Given the description of an element on the screen output the (x, y) to click on. 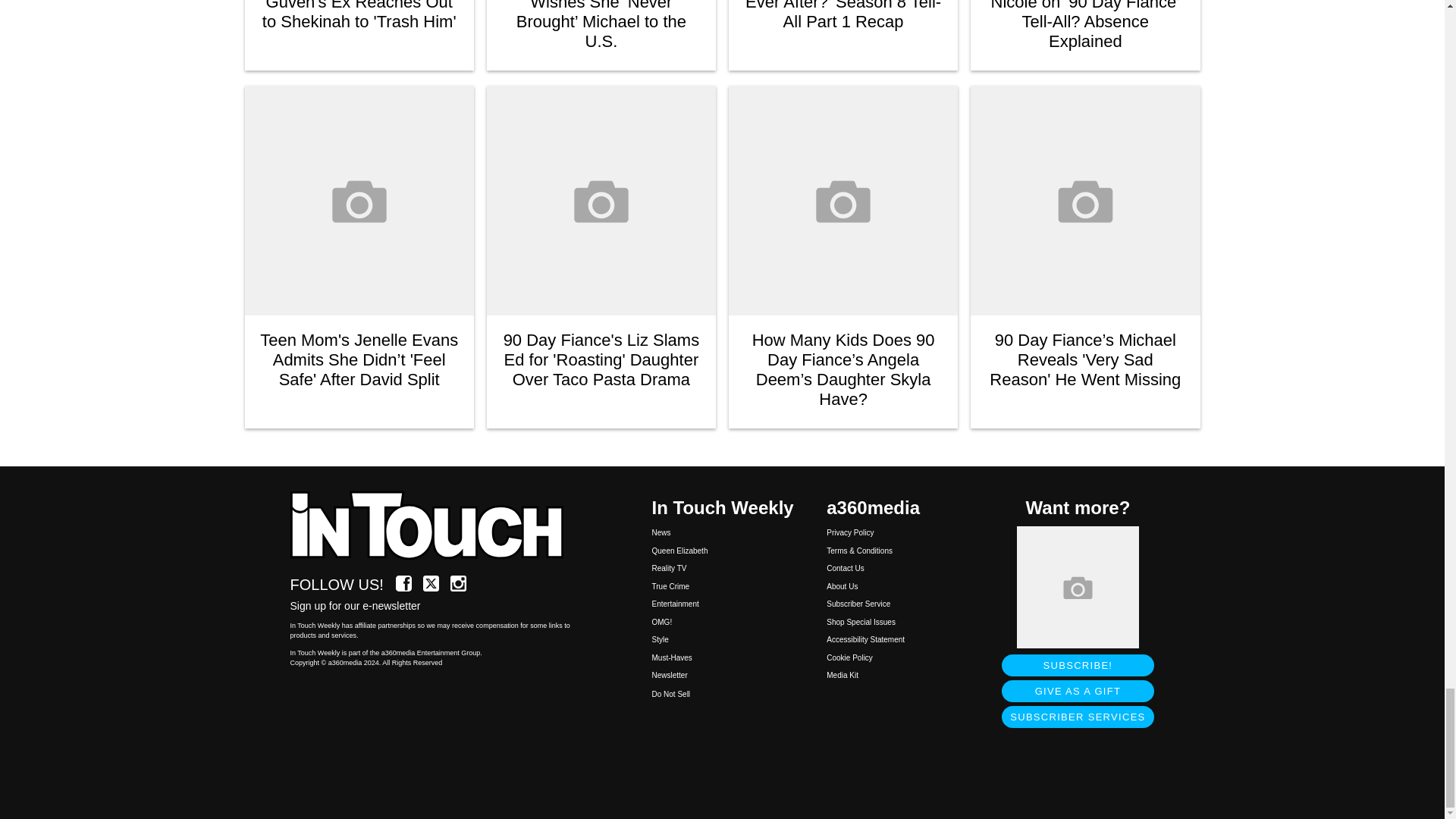
Home (434, 526)
